Given the description of an element on the screen output the (x, y) to click on. 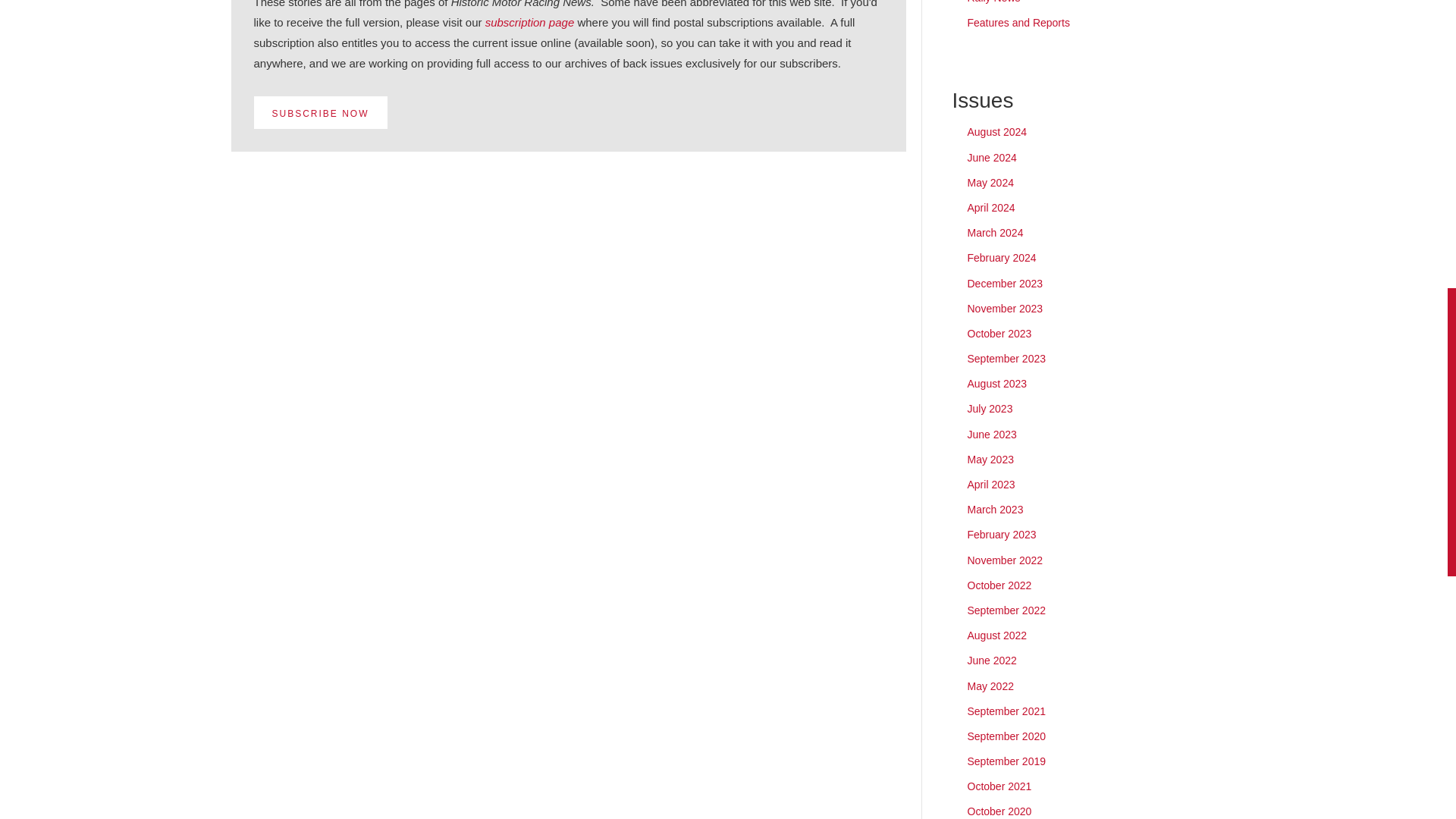
June 2024 (992, 157)
subscription page (529, 21)
March 2024 (995, 232)
SUBSCRIBE NOW (320, 112)
August 2024 (997, 132)
February 2024 (1002, 257)
April 2024 (991, 207)
Features and Reports (1019, 22)
Rally News (994, 2)
May 2024 (990, 182)
